Given the description of an element on the screen output the (x, y) to click on. 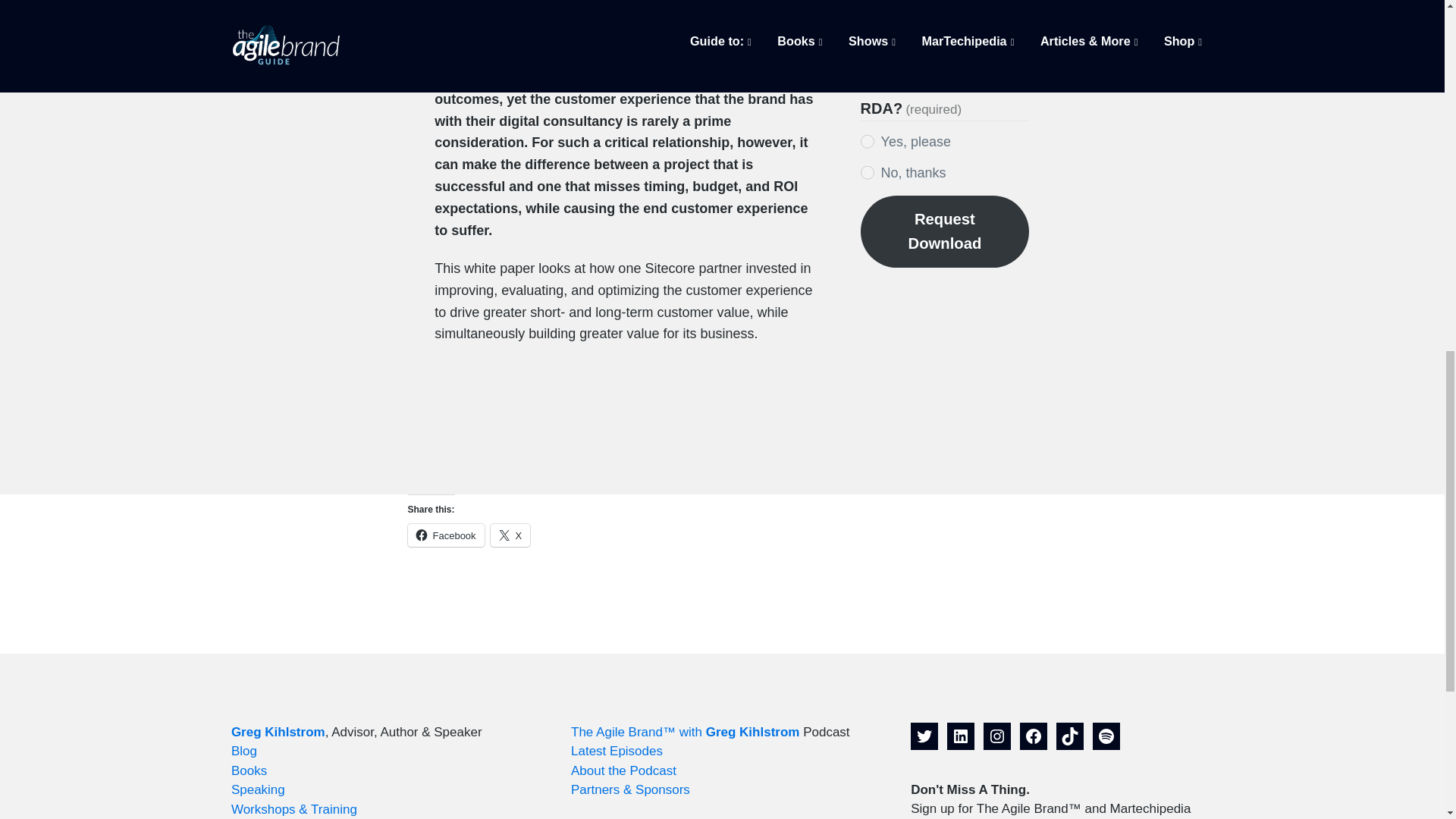
Click to share on Facebook (445, 535)
Click to share on X (510, 535)
Yes, please (867, 141)
No, thanks (867, 172)
